Given the description of an element on the screen output the (x, y) to click on. 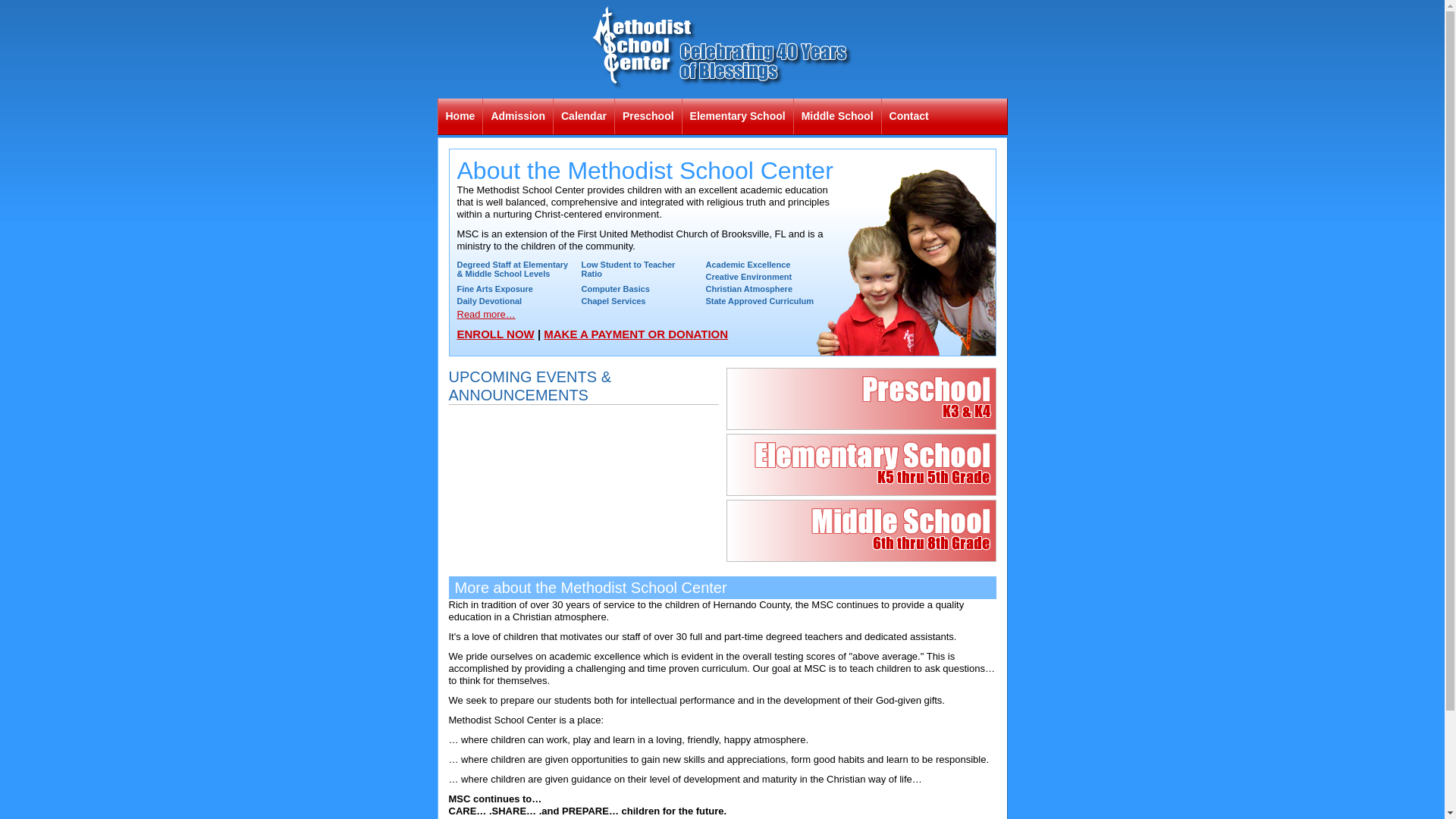
Preschool Element type: text (648, 116)
ENROLL NOW Element type: text (494, 333)
UPCOMING EVENTS & ANNOUNCEMENTS Element type: text (529, 385)
Calendar Element type: text (583, 116)
Elementary School Element type: text (737, 116)
Contact Element type: text (908, 116)
Middle School Element type: text (837, 116)
Home Element type: text (460, 116)
Admission Element type: text (517, 116)
MAKE A PAYMENT OR DONATION Element type: text (635, 333)
